Given the description of an element on the screen output the (x, y) to click on. 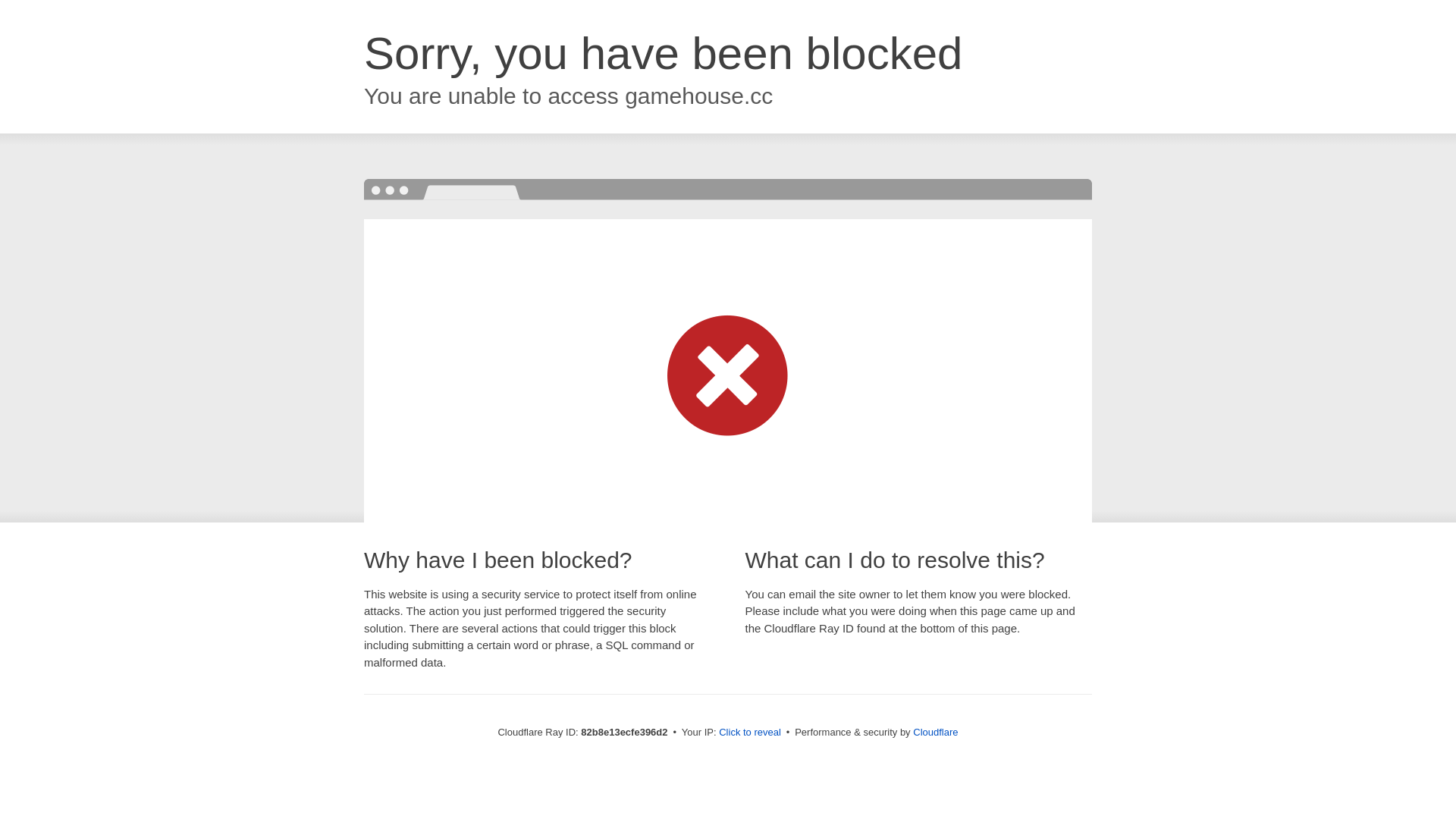
Click to reveal Element type: text (749, 732)
Cloudflare Element type: text (935, 731)
